Given the description of an element on the screen output the (x, y) to click on. 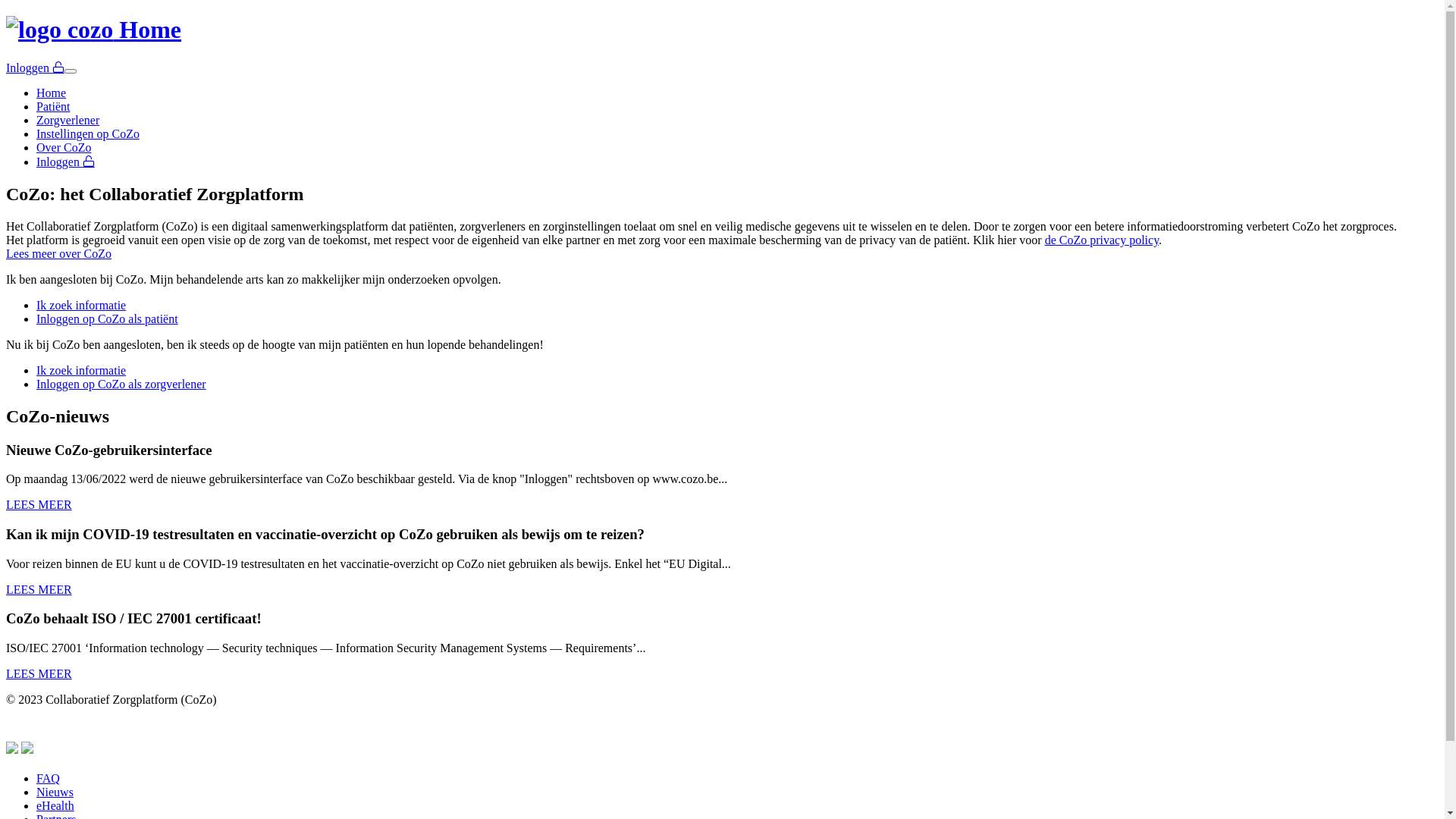
Zorgverlener Element type: text (67, 119)
Inloggen op CoZo als zorgverlener Element type: text (121, 383)
Lees meer over CoZo Element type: text (58, 253)
LEES MEER Element type: text (39, 504)
Inloggen Element type: text (35, 67)
Ik zoek informatie Element type: text (80, 304)
Over CoZo Element type: text (63, 147)
Inloggen Element type: text (65, 161)
FAQ Element type: text (47, 777)
Ik zoek informatie Element type: text (80, 370)
Home Element type: text (50, 92)
eHealth Element type: text (55, 805)
Instellingen op CoZo Element type: text (87, 133)
Nieuws Element type: text (54, 791)
LEES MEER Element type: text (39, 589)
LEES MEER Element type: text (39, 673)
Home Element type: text (722, 29)
de CoZo privacy policy Element type: text (1101, 239)
